Given the description of an element on the screen output the (x, y) to click on. 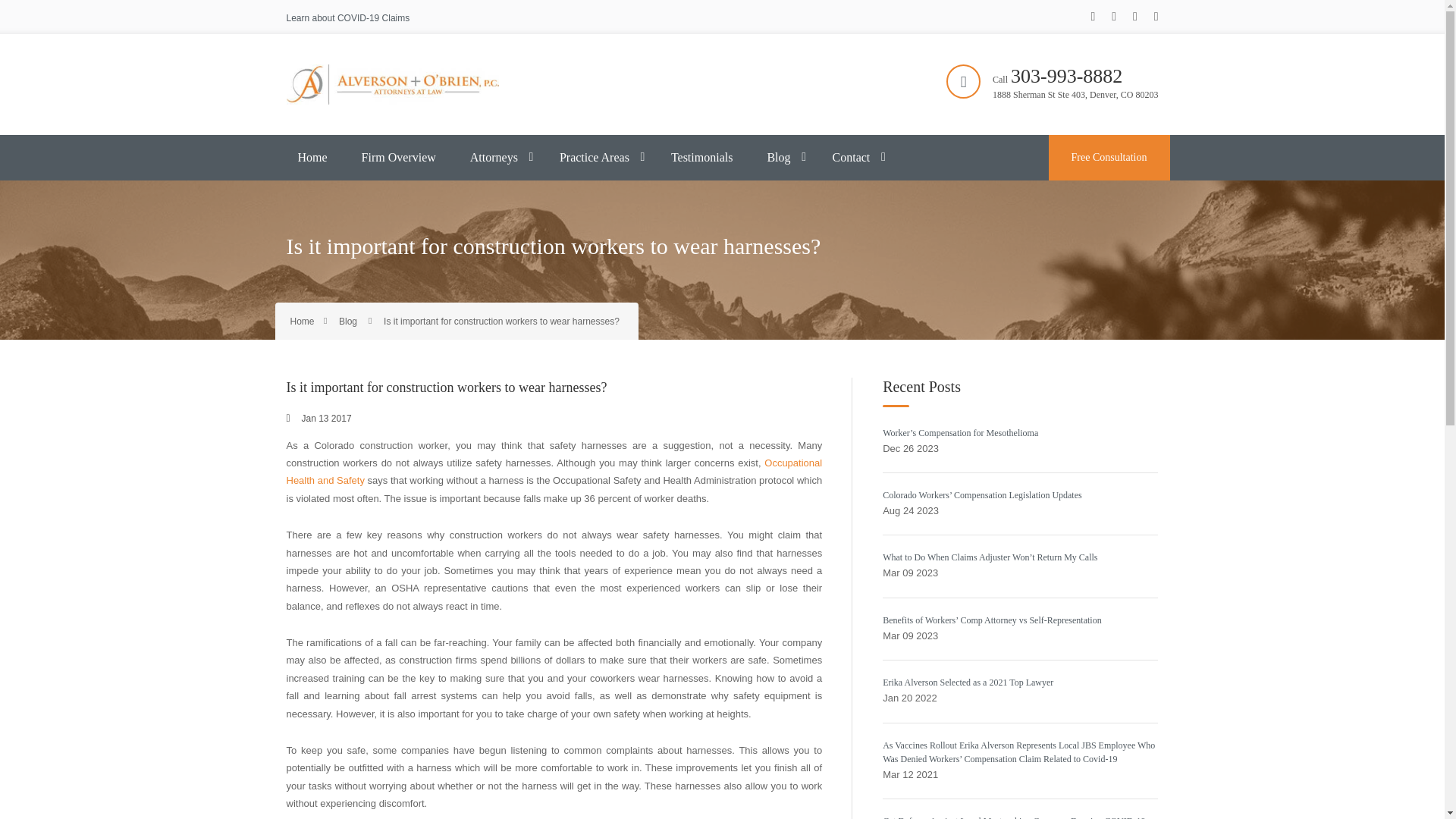
Home (312, 157)
Firm Overview (398, 157)
Learn about COVID-19 Claims (348, 18)
Home (301, 321)
Blog (778, 157)
Testimonials (701, 157)
Blog (347, 321)
Contact (851, 157)
Occupational Health and Safety (554, 471)
303-993-8882 (1066, 75)
Practice Areas (594, 157)
Attorneys (493, 157)
Free Consultation (1109, 157)
